Given the description of an element on the screen output the (x, y) to click on. 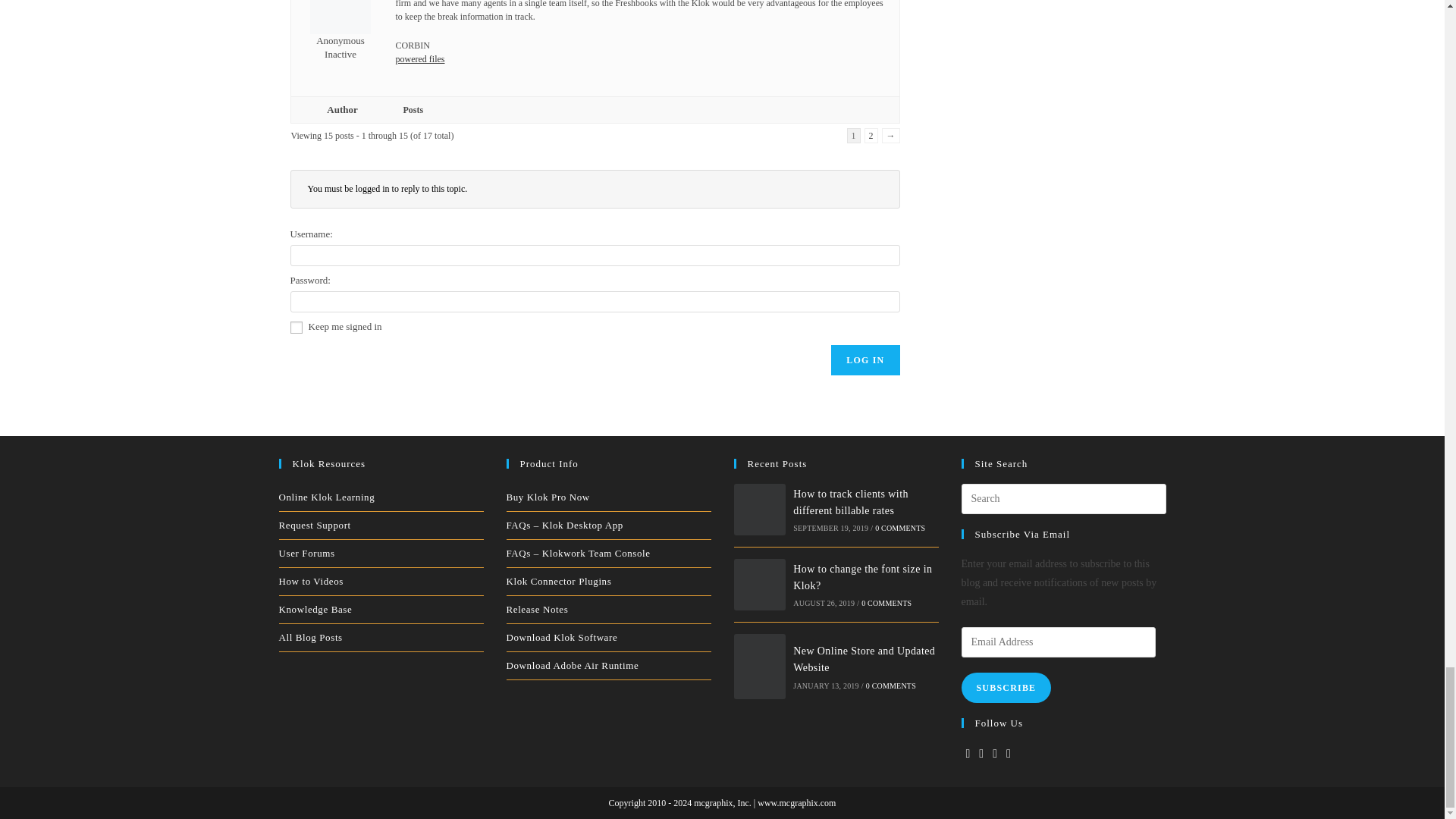
How to track clients with different billable rates (759, 509)
forever (295, 327)
How to change the font size in Klok? (759, 584)
